Given the description of an element on the screen output the (x, y) to click on. 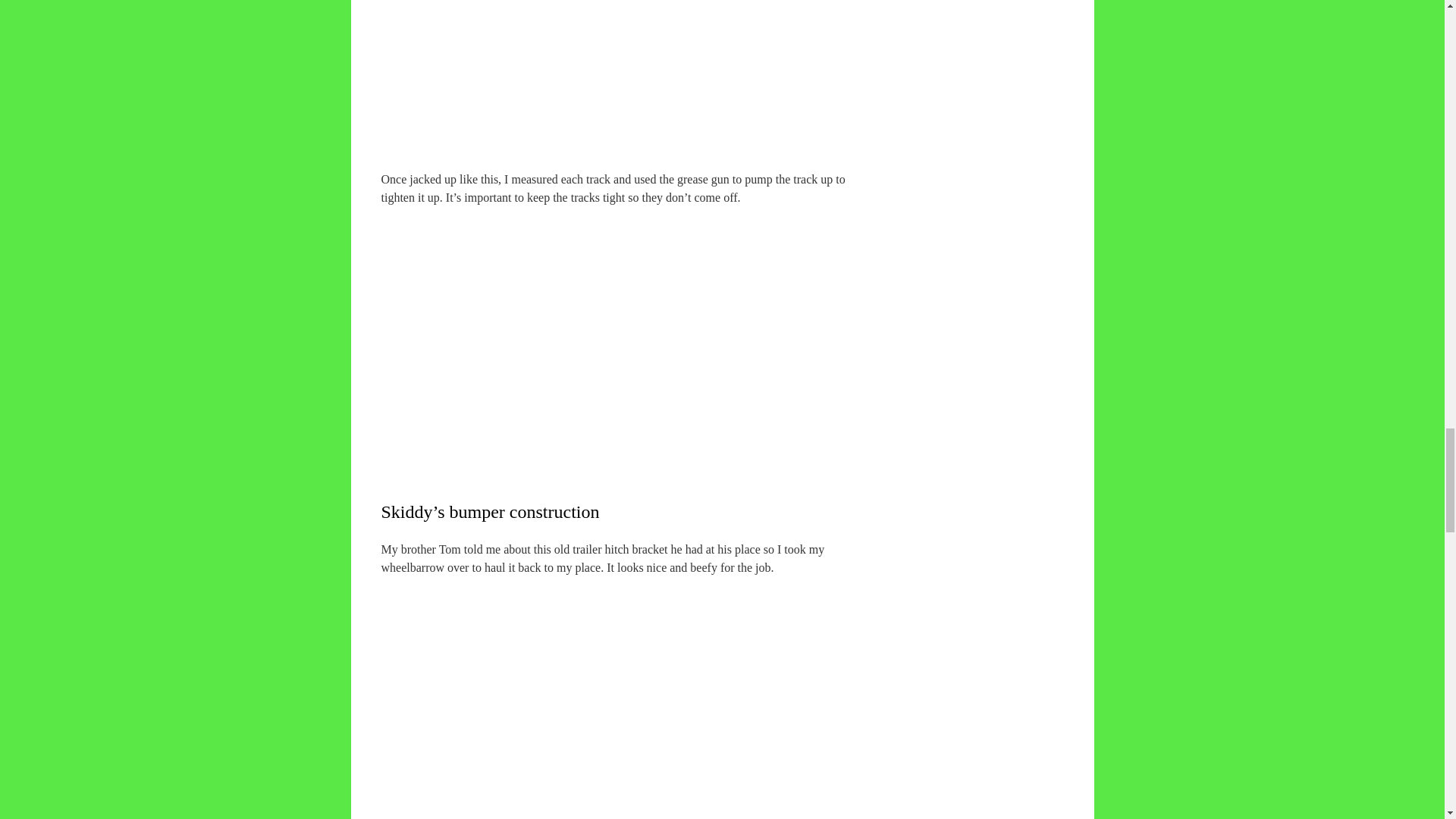
hitch10 (612, 698)
skiddy8 (612, 73)
grease9 (612, 341)
